Given the description of an element on the screen output the (x, y) to click on. 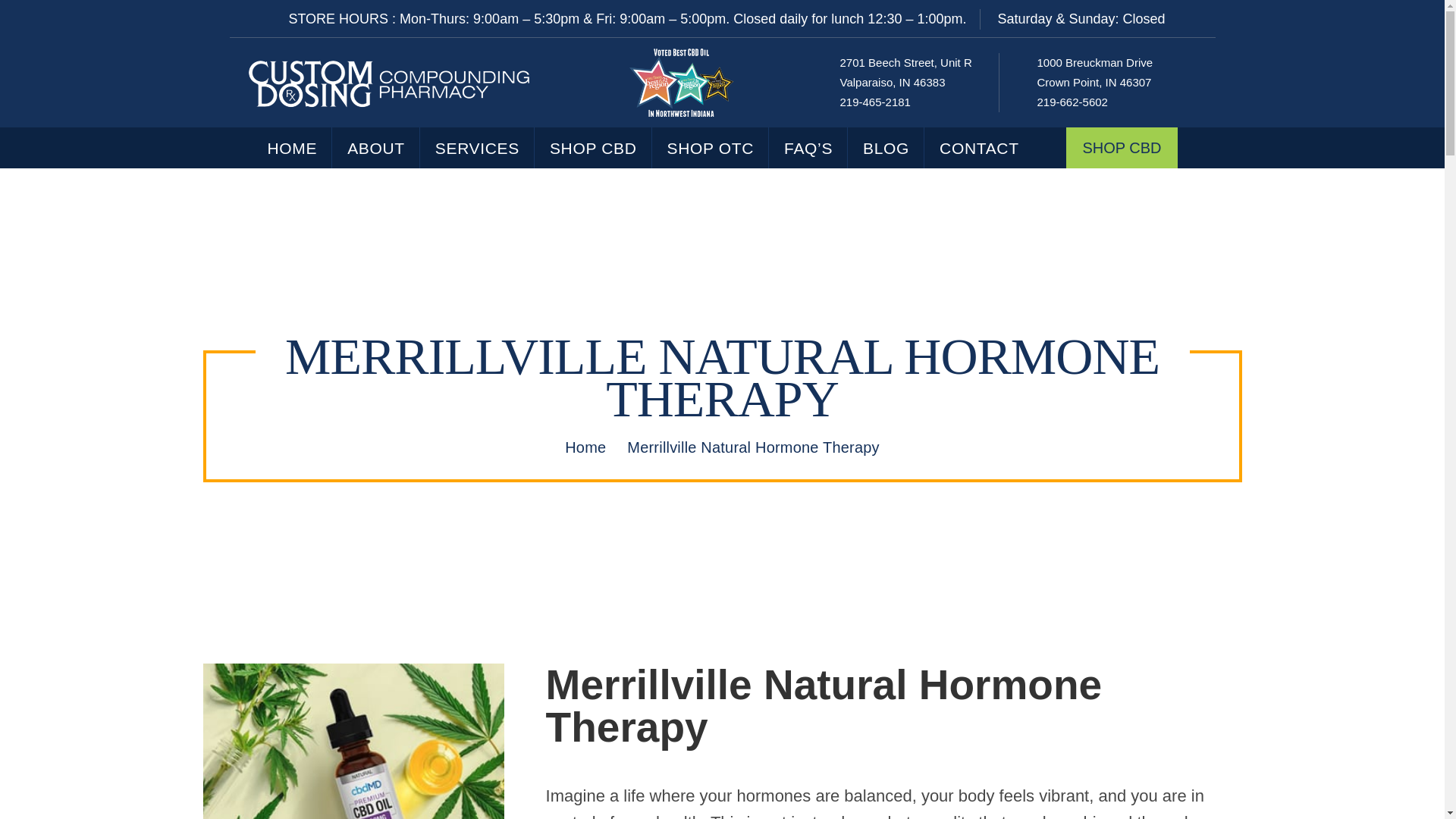
SHOP OTC (711, 147)
Go to Custom Dosing Pharmacy. (584, 446)
SHOP CBD (593, 147)
ABOUT (906, 72)
219-465-2181 (1094, 72)
219-662-5602 (375, 147)
HOME (875, 101)
SERVICES (1072, 101)
